Given the description of an element on the screen output the (x, y) to click on. 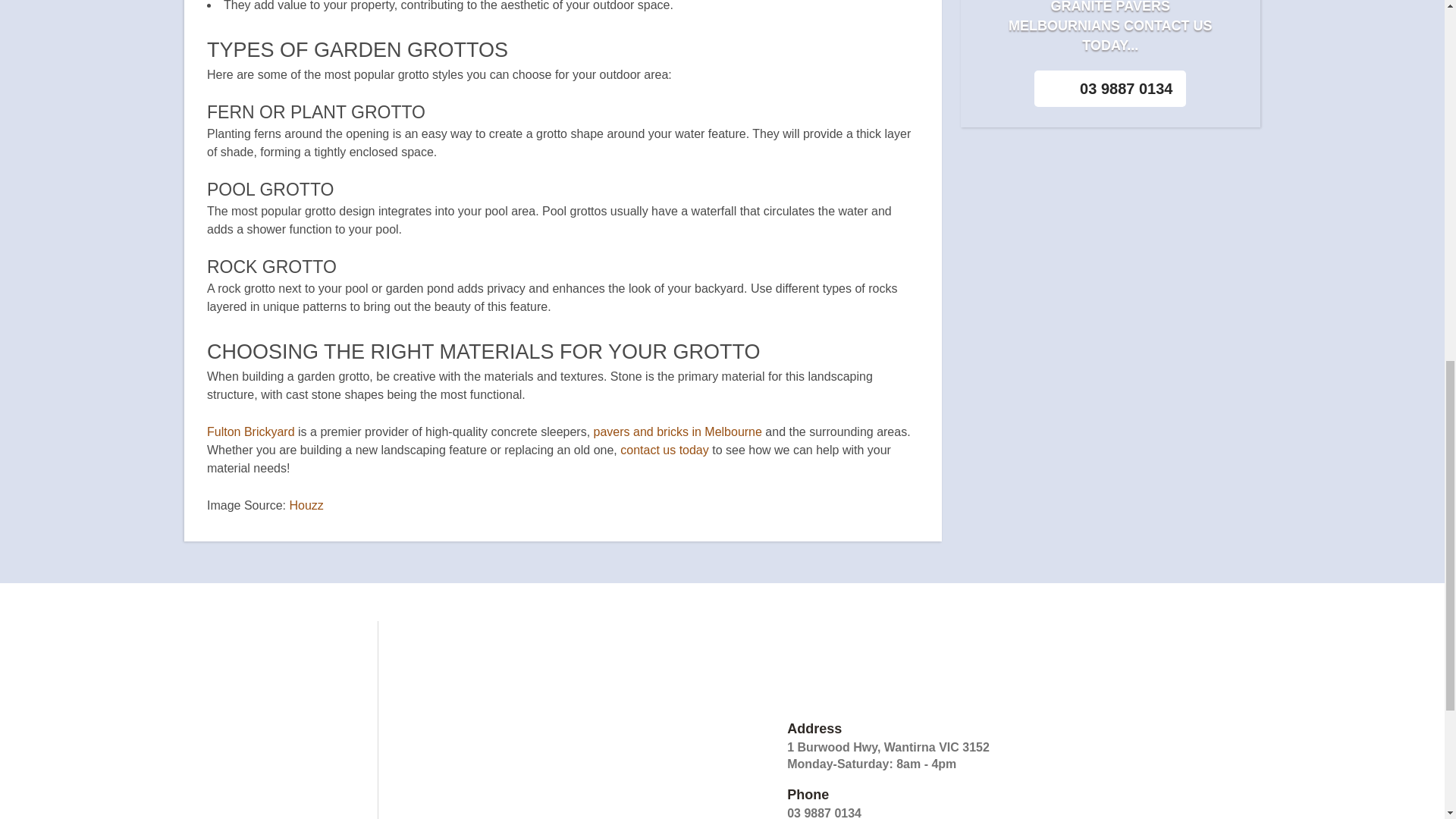
Fulton Brickyard (250, 431)
pavers and bricks in Melbourne (677, 431)
contact us today (664, 449)
